Given the description of an element on the screen output the (x, y) to click on. 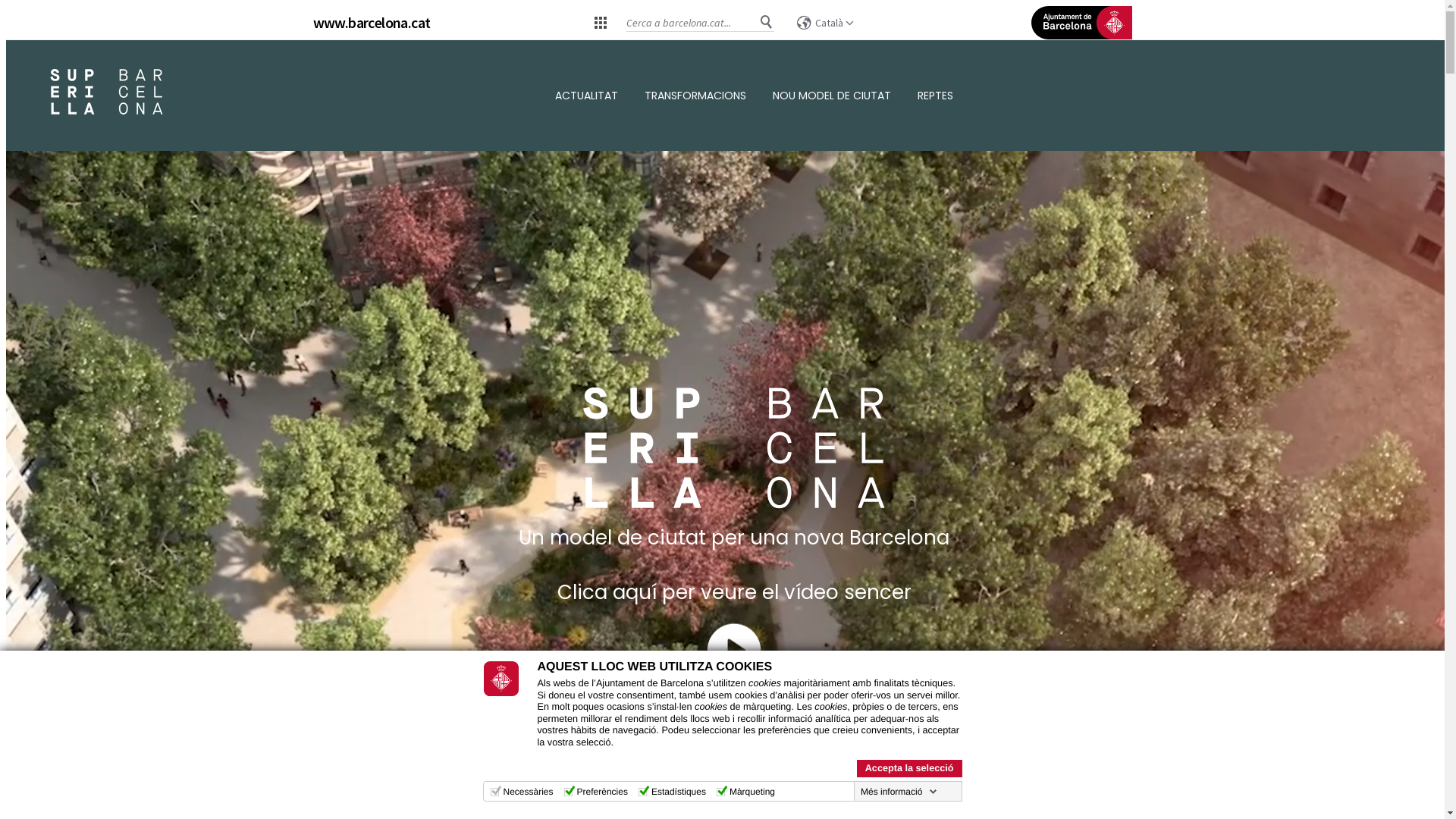
TRANSFORMACIONS Element type: text (695, 95)
NOU MODEL DE CIUTAT Element type: text (831, 95)
www.barcelona.cat Element type: text (370, 21)
Dreceres de barcelona.cat Element type: hover (600, 21)
Obre en una finestra nova Element type: text (733, 661)
REPTES Element type: text (935, 95)
ACTUALITAT Element type: text (586, 95)
